Given the description of an element on the screen output the (x, y) to click on. 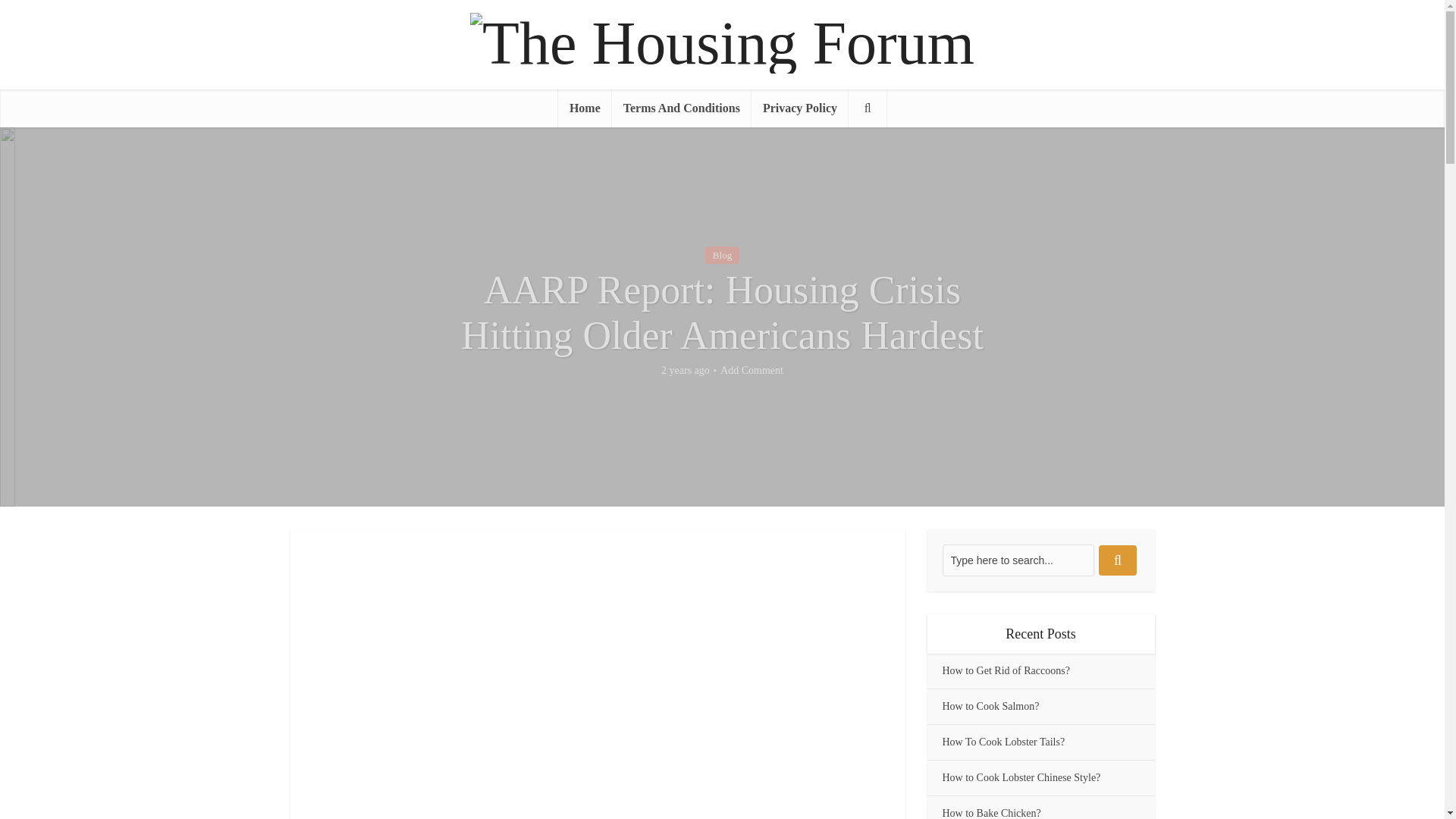
Blog (721, 254)
Home (584, 108)
Terms And Conditions (681, 108)
Privacy Policy (799, 108)
Type here to search... (1017, 560)
Type here to search... (1017, 560)
Add Comment (751, 370)
